Given the description of an element on the screen output the (x, y) to click on. 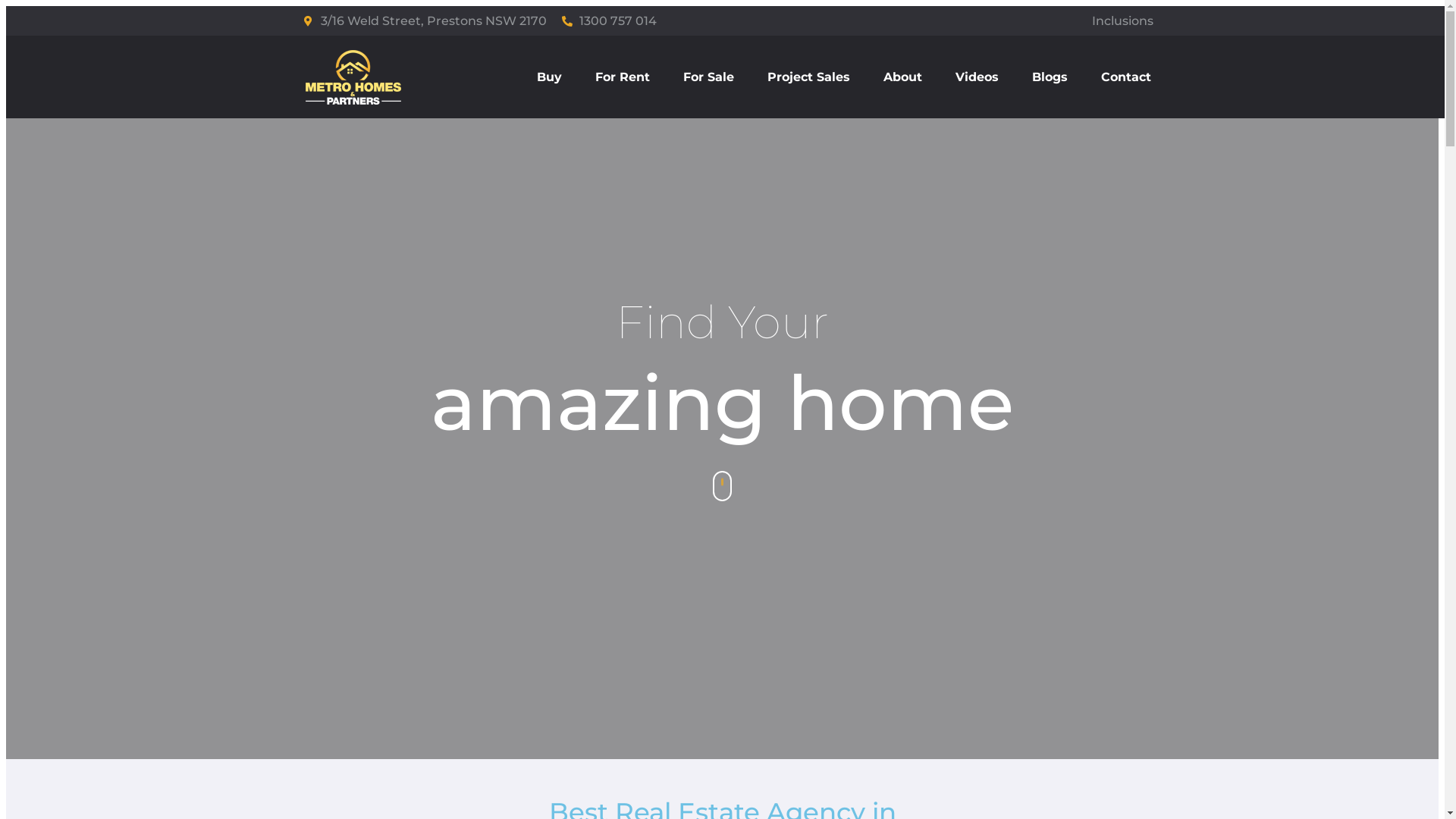
Inclusions Element type: text (943, 20)
Blogs Element type: text (1049, 76)
1300 757 014 Element type: text (608, 20)
Project Sales Element type: text (808, 76)
Contact Element type: text (1125, 76)
About Element type: text (902, 76)
For Sale Element type: text (708, 76)
Buy Element type: text (549, 76)
For Rent Element type: text (622, 76)
Videos Element type: text (976, 76)
3/16 Weld Street, Prestons NSW 2170 Element type: text (424, 20)
